Given the description of an element on the screen output the (x, y) to click on. 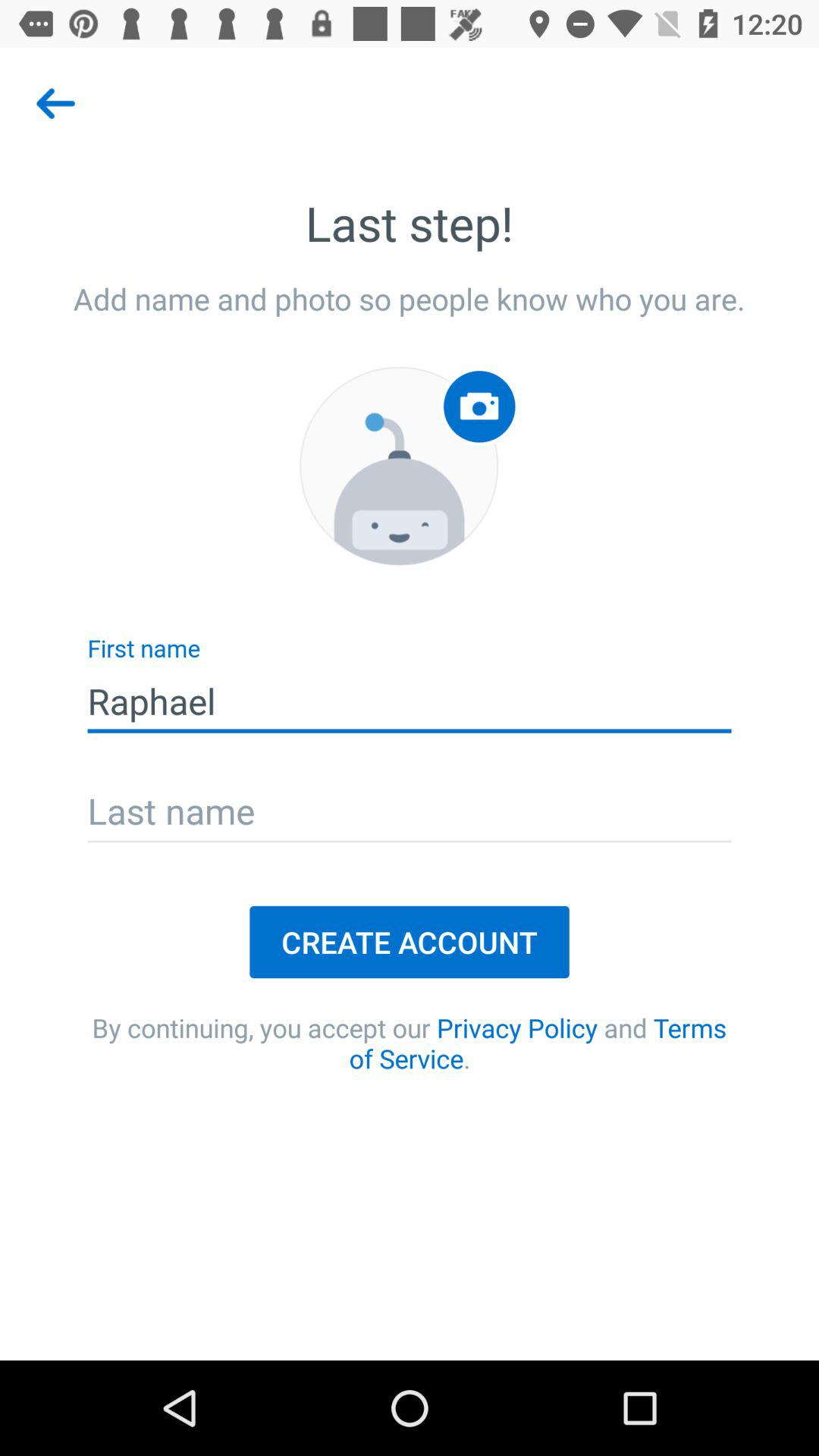
choose icon below raphael item (409, 813)
